Given the description of an element on the screen output the (x, y) to click on. 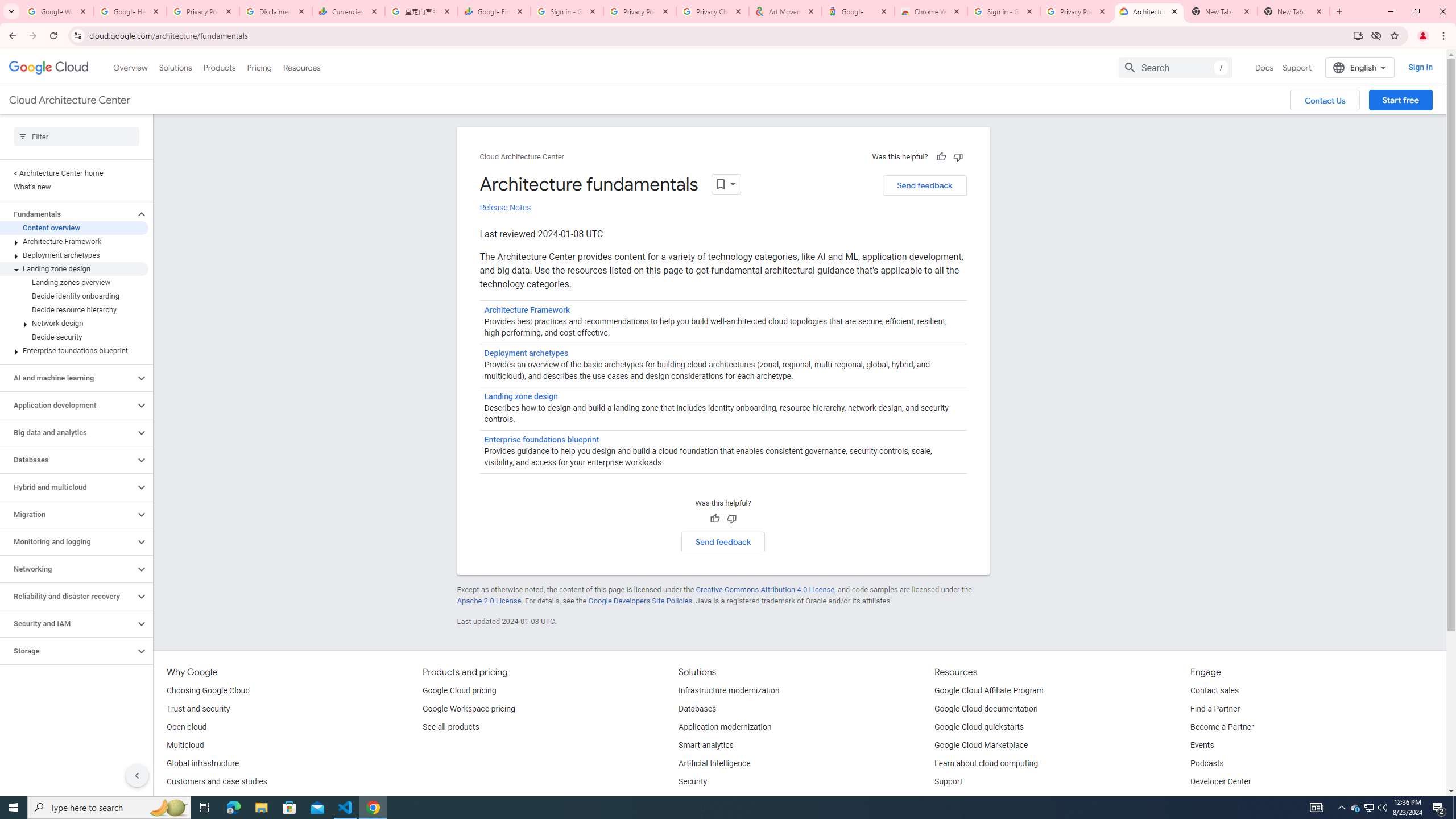
Smart analytics (705, 745)
Databases (67, 459)
Google Cloud pricing (459, 691)
Security (692, 782)
Big data and analytics (67, 432)
English (1359, 67)
Send feedback (723, 541)
Multicloud (184, 745)
Application modernization (724, 727)
